Given the description of an element on the screen output the (x, y) to click on. 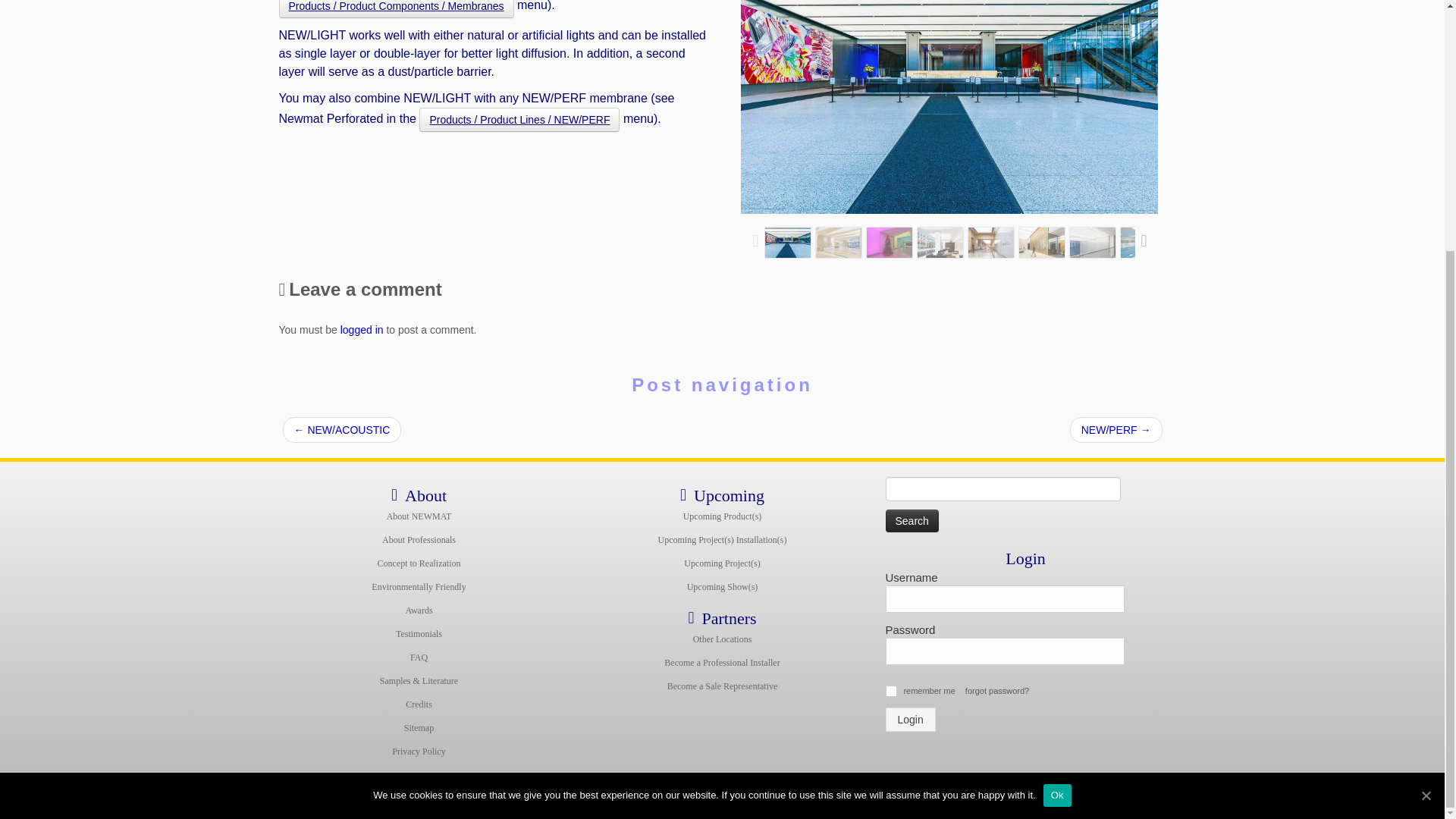
Search (912, 520)
